Given the description of an element on the screen output the (x, y) to click on. 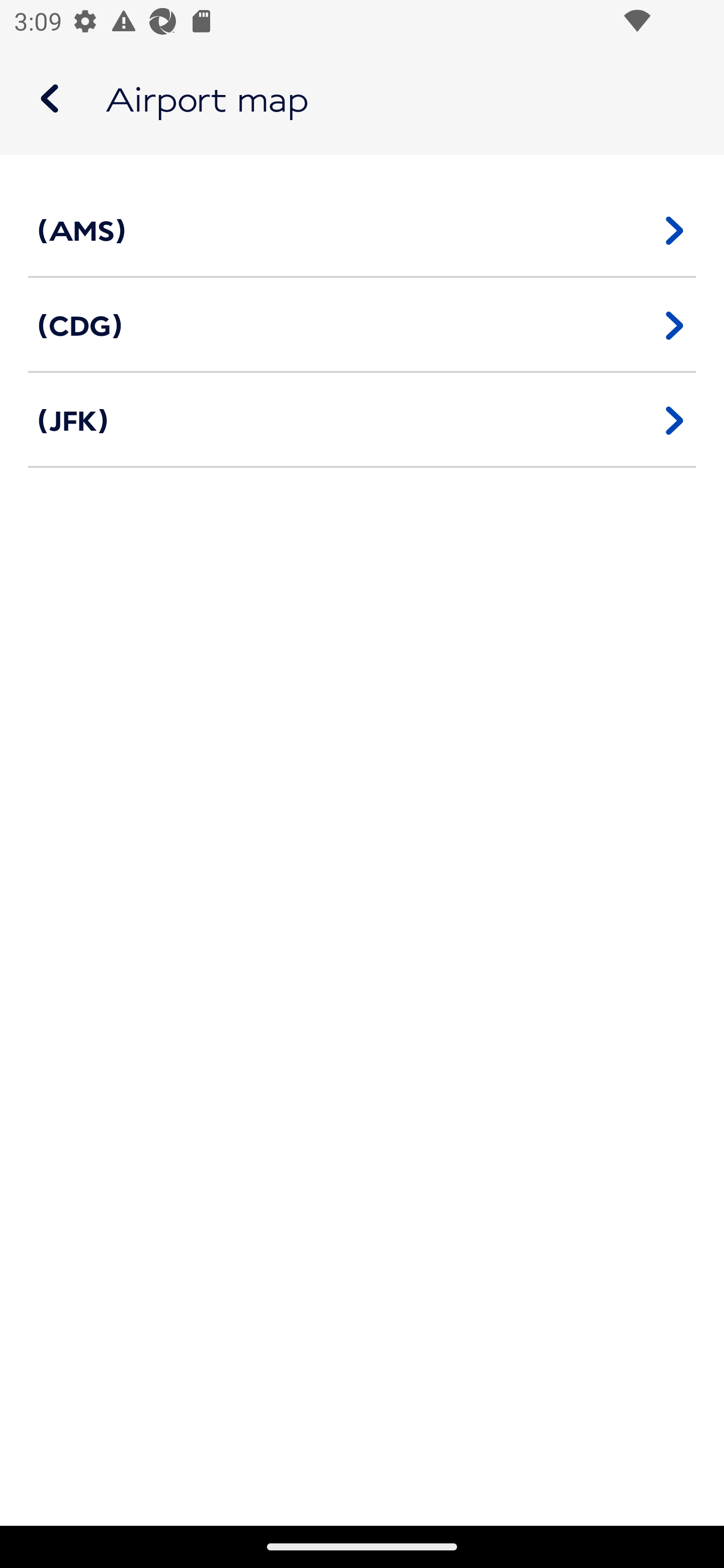
Airport map (362, 98)
 (AMS) (361, 230)
 (CDG) (361, 325)
 (JFK) (361, 420)
